Given the description of an element on the screen output the (x, y) to click on. 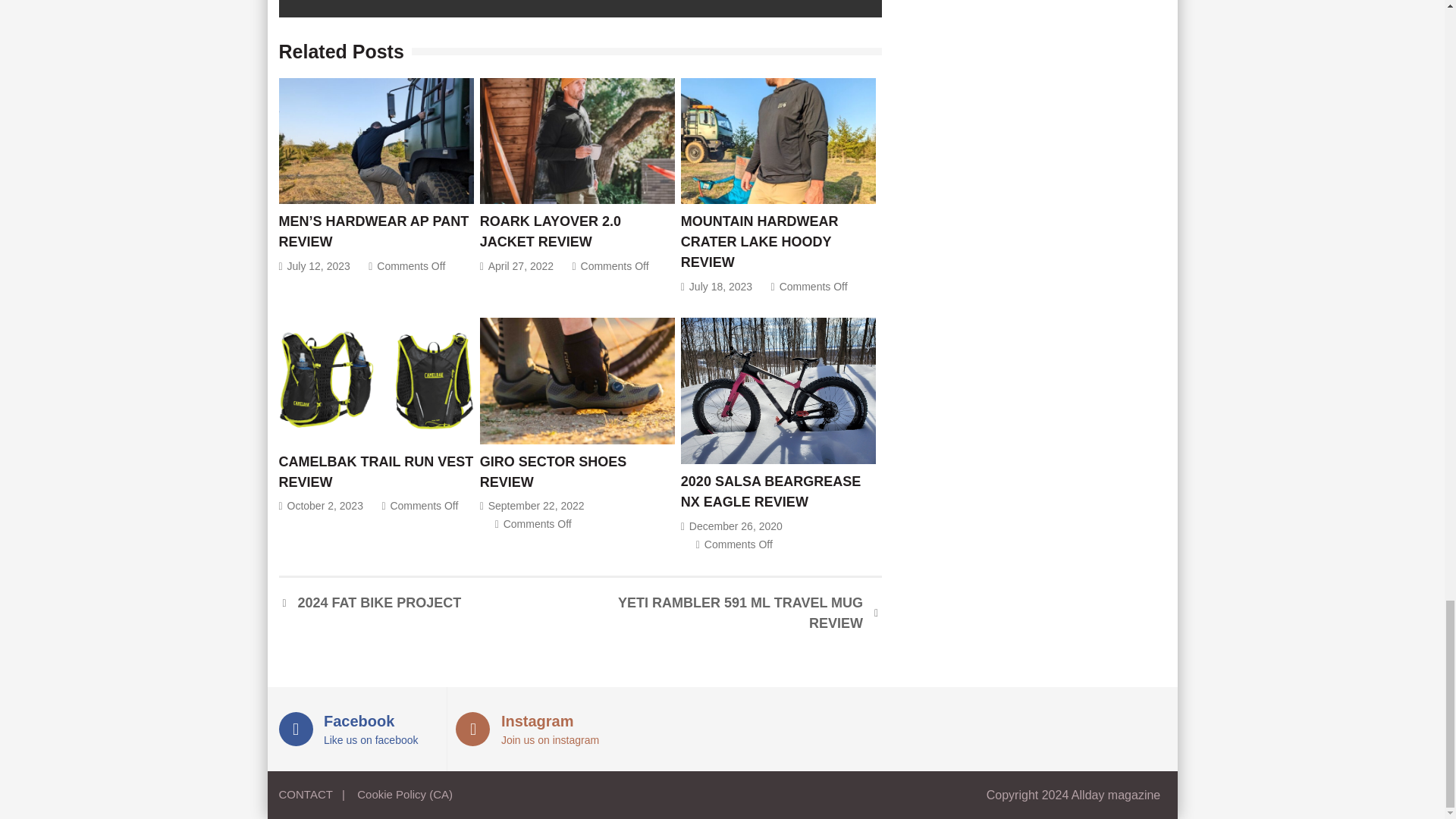
GIRO SECTOR SHOES REVIEW (577, 380)
2020 SALSA BEARGREASE NX EAGLE REVIEW (778, 390)
ROARK LAYOVER 2.0 JACKET REVIEW (577, 140)
CAMELBAK TRAIL RUN VEST REVIEW (376, 380)
MOUNTAIN HARDWEAR CRATER LAKE HOODY REVIEW (778, 140)
